Given the description of an element on the screen output the (x, y) to click on. 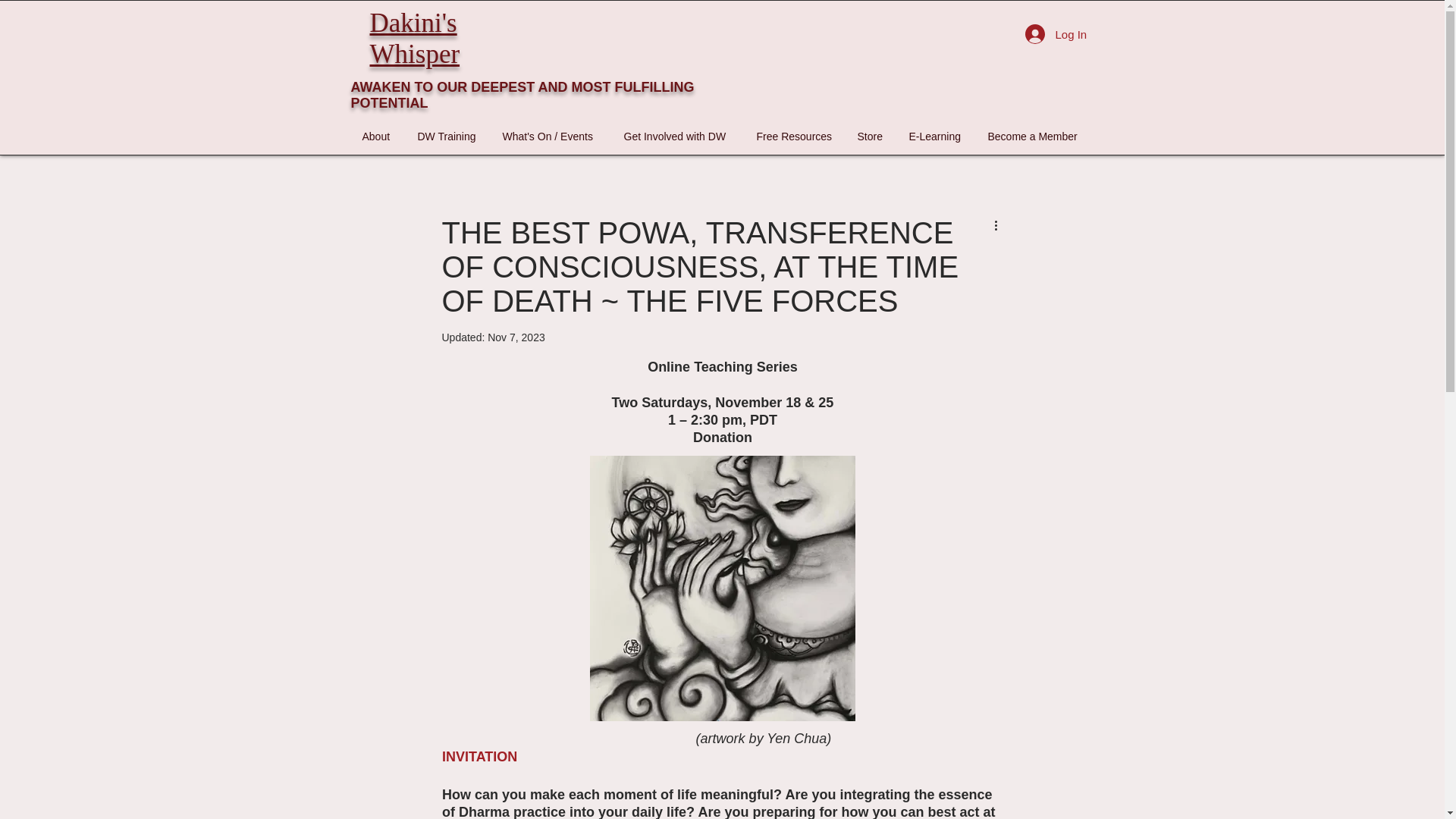
Log In (1054, 33)
E-Learning (937, 136)
Dakini's Whisper (414, 37)
Nov 7, 2023 (515, 337)
Become a Member (1035, 136)
